Given the description of an element on the screen output the (x, y) to click on. 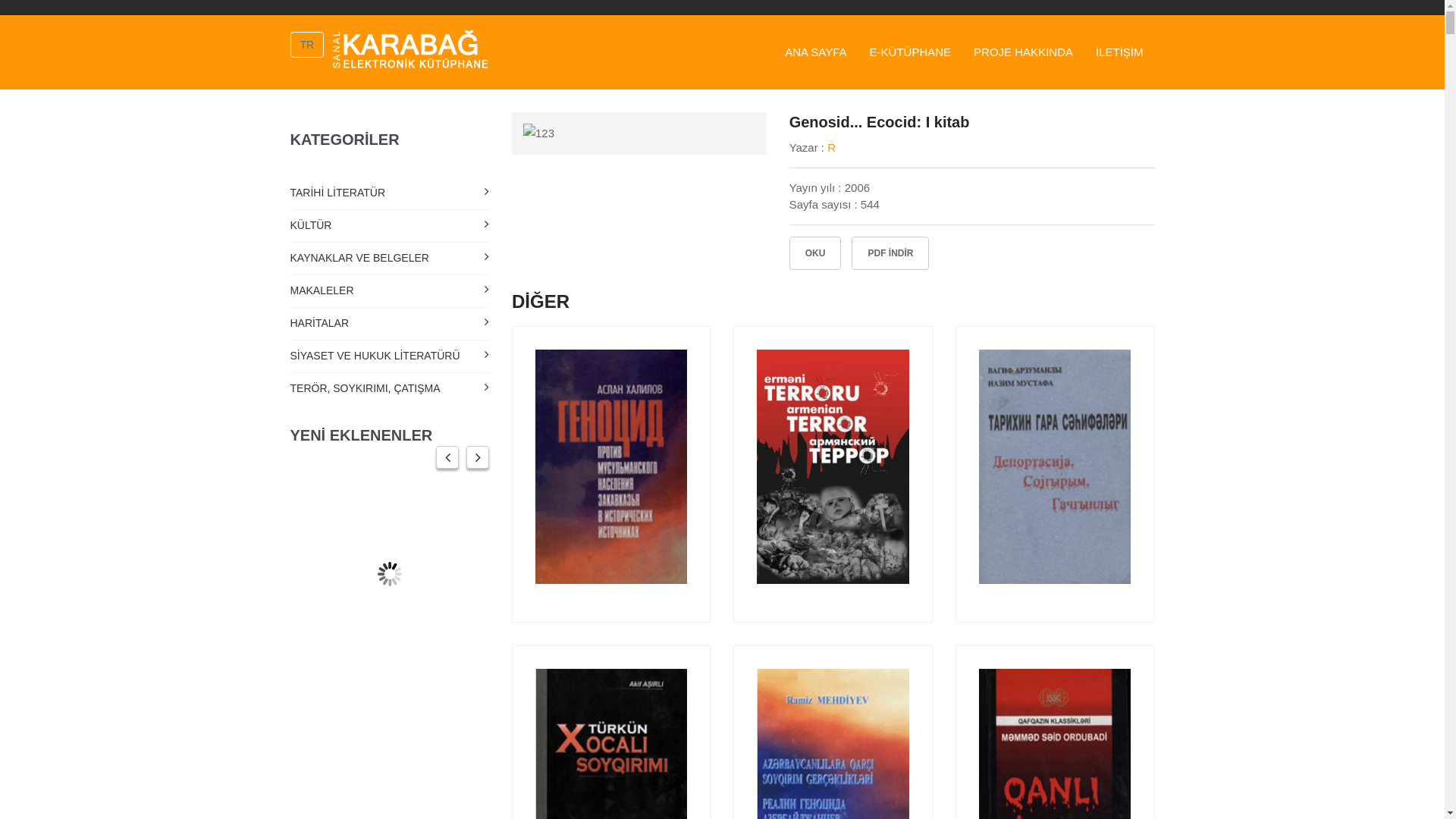
TR Element type: text (306, 44)
OKU Element type: text (815, 252)
PDF INDIR Element type: text (889, 252)
ANA SAYFA Element type: text (815, 52)
PROJE HAKKINDA Element type: text (1023, 52)
KAYNAKLAR VE BELGELER Element type: text (389, 258)
MAKALELER Element type: text (389, 291)
